Given the description of an element on the screen output the (x, y) to click on. 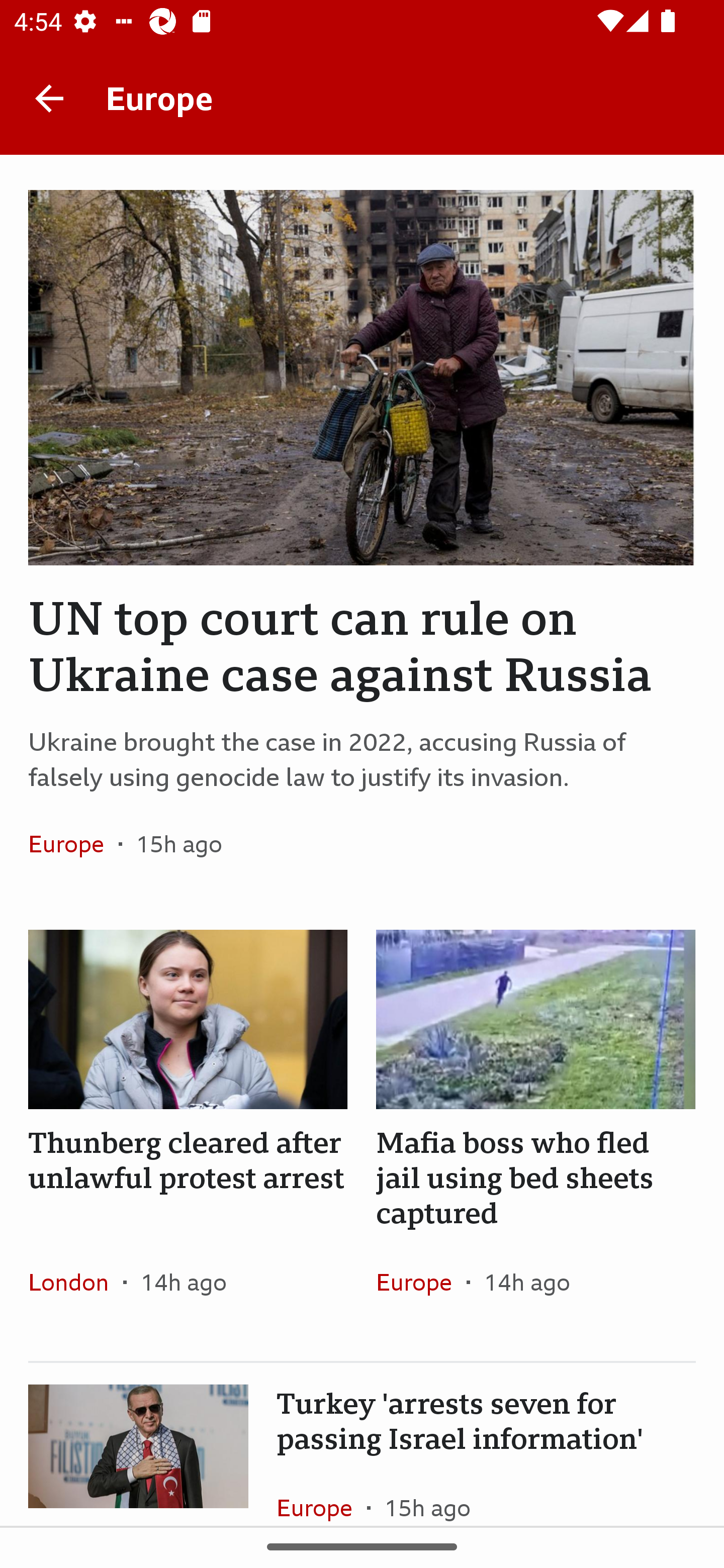
Back (49, 97)
Europe In the section Europe (73, 844)
London In the section London (75, 1281)
Europe In the section Europe (420, 1281)
Europe In the section Europe (321, 1490)
